Given the description of an element on the screen output the (x, y) to click on. 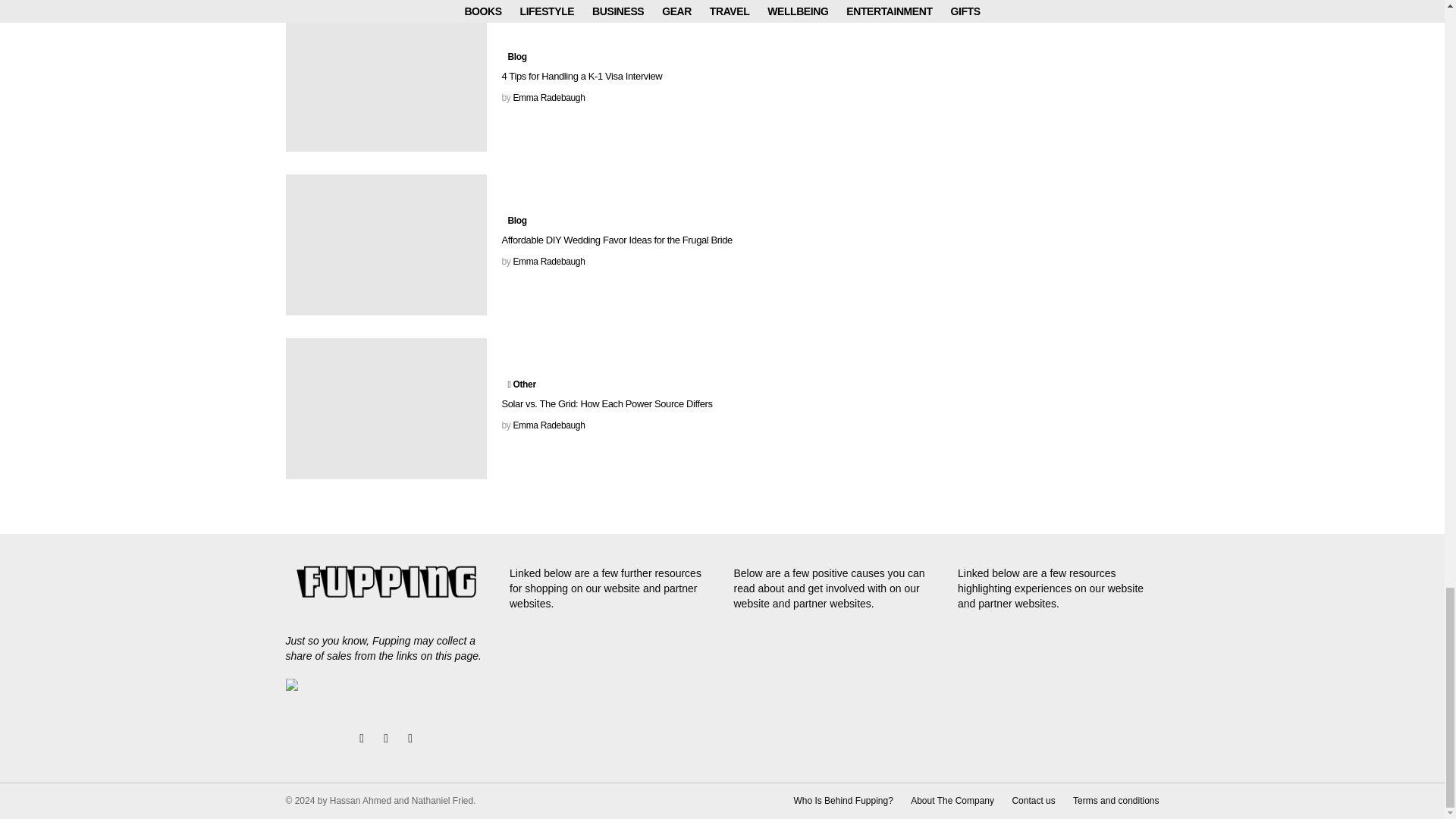
Solar vs. The Grid: How Each Power Source Differs (385, 408)
Posts by Emma Radebaugh (548, 425)
4 Tips for Handling a K-1 Visa Interview (385, 80)
Affordable DIY Wedding Favor Ideas for the Frugal Bride (385, 244)
Posts by Emma Radebaugh (548, 261)
Posts by Emma Radebaugh (548, 97)
